Given the description of an element on the screen output the (x, y) to click on. 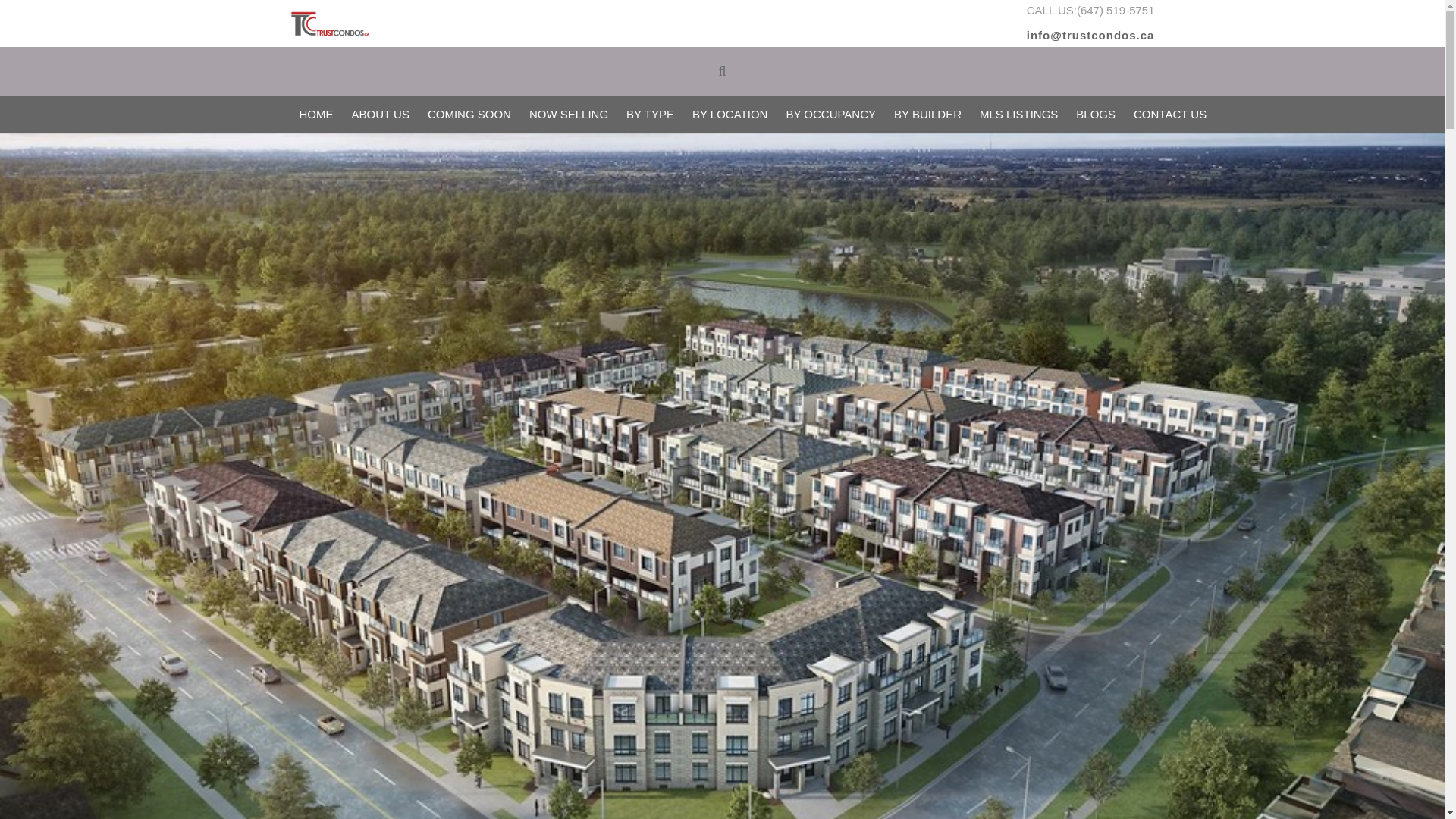
BY LOCATION (729, 114)
BY TYPE (649, 114)
NOW SELLING (568, 114)
ABOUT US (380, 114)
COMING SOON (469, 114)
HOME (315, 114)
BY OCCUPANCY (830, 114)
